Given the description of an element on the screen output the (x, y) to click on. 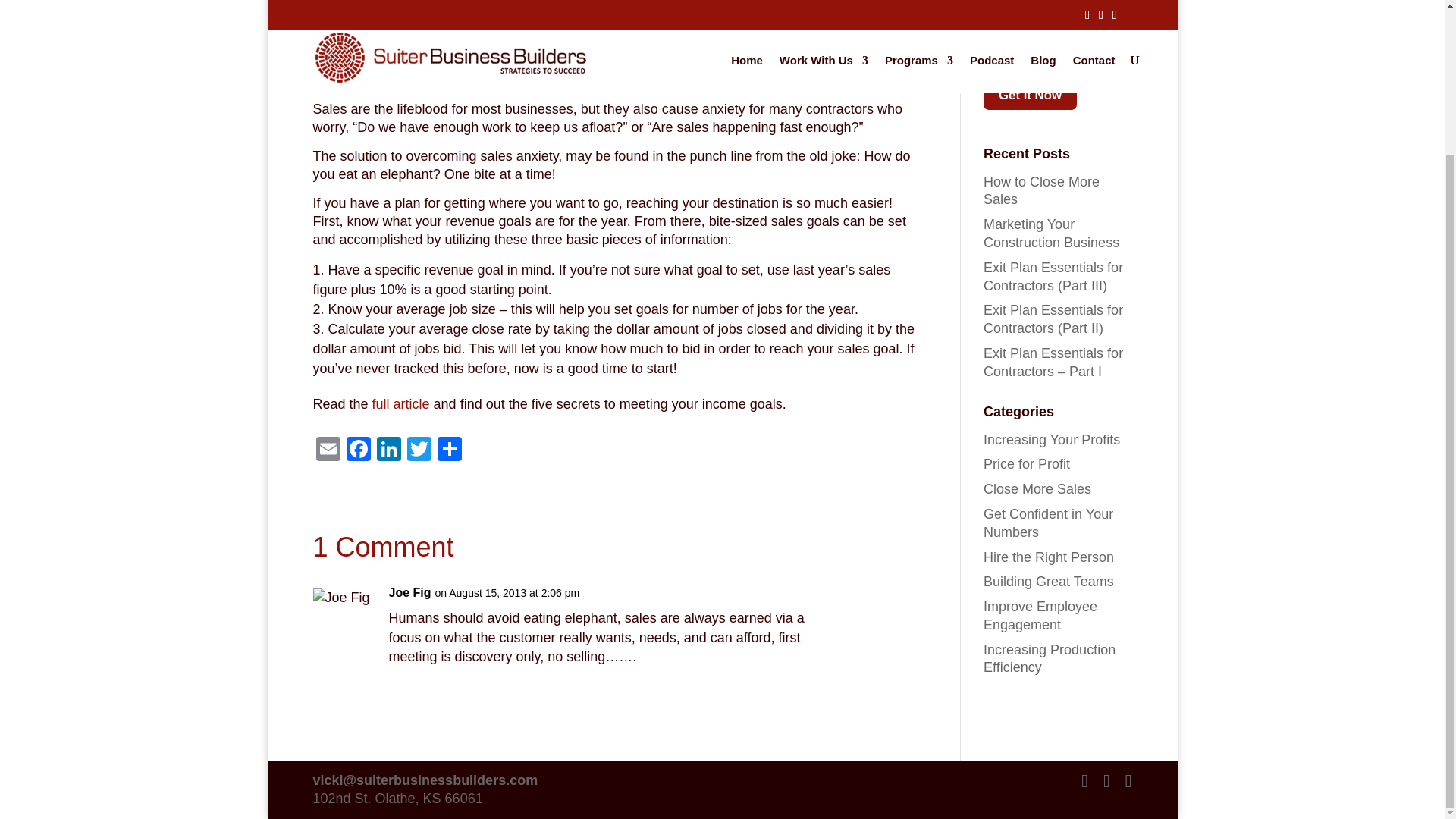
Email (327, 450)
Close More Sales (615, 52)
Posts by Vicki Suiter-McNickle (395, 52)
full article (402, 403)
Twitter (418, 450)
Facebook (357, 450)
1 comment (713, 52)
Vicki Suiter-McNickle (395, 52)
LinkedIn (387, 450)
